Given the description of an element on the screen output the (x, y) to click on. 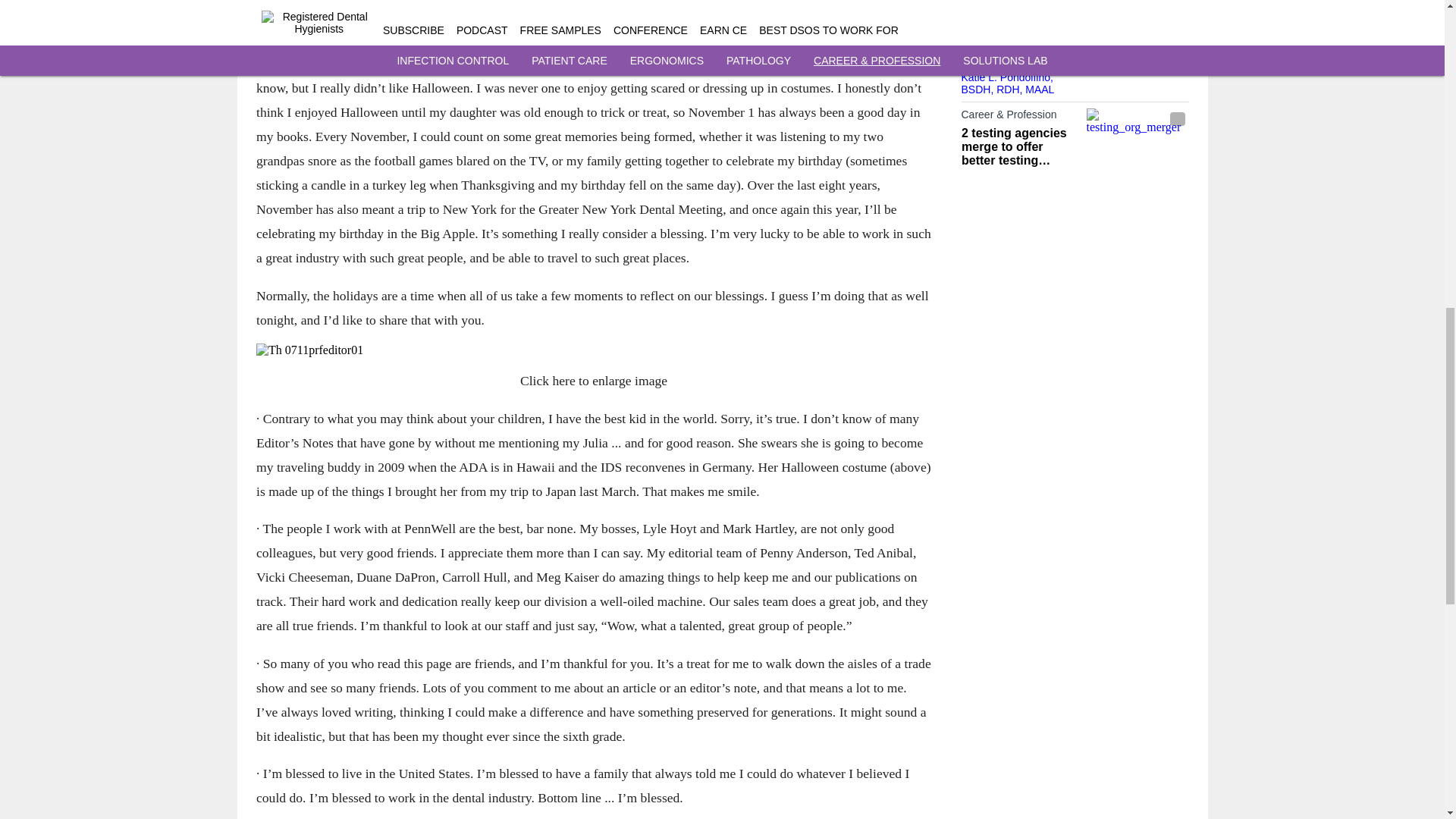
Patient Care (1019, 14)
Th 0711prfeditor01 (593, 350)
Katie L. Pondolfino, BSDH, RDH, MAAL (1007, 83)
sugar alcohols, natural sweeteners, and oral health (1137, 34)
Sugar alcohols, natural sweeteners, and oral health: Part 1 (1019, 44)
